Given the description of an element on the screen output the (x, y) to click on. 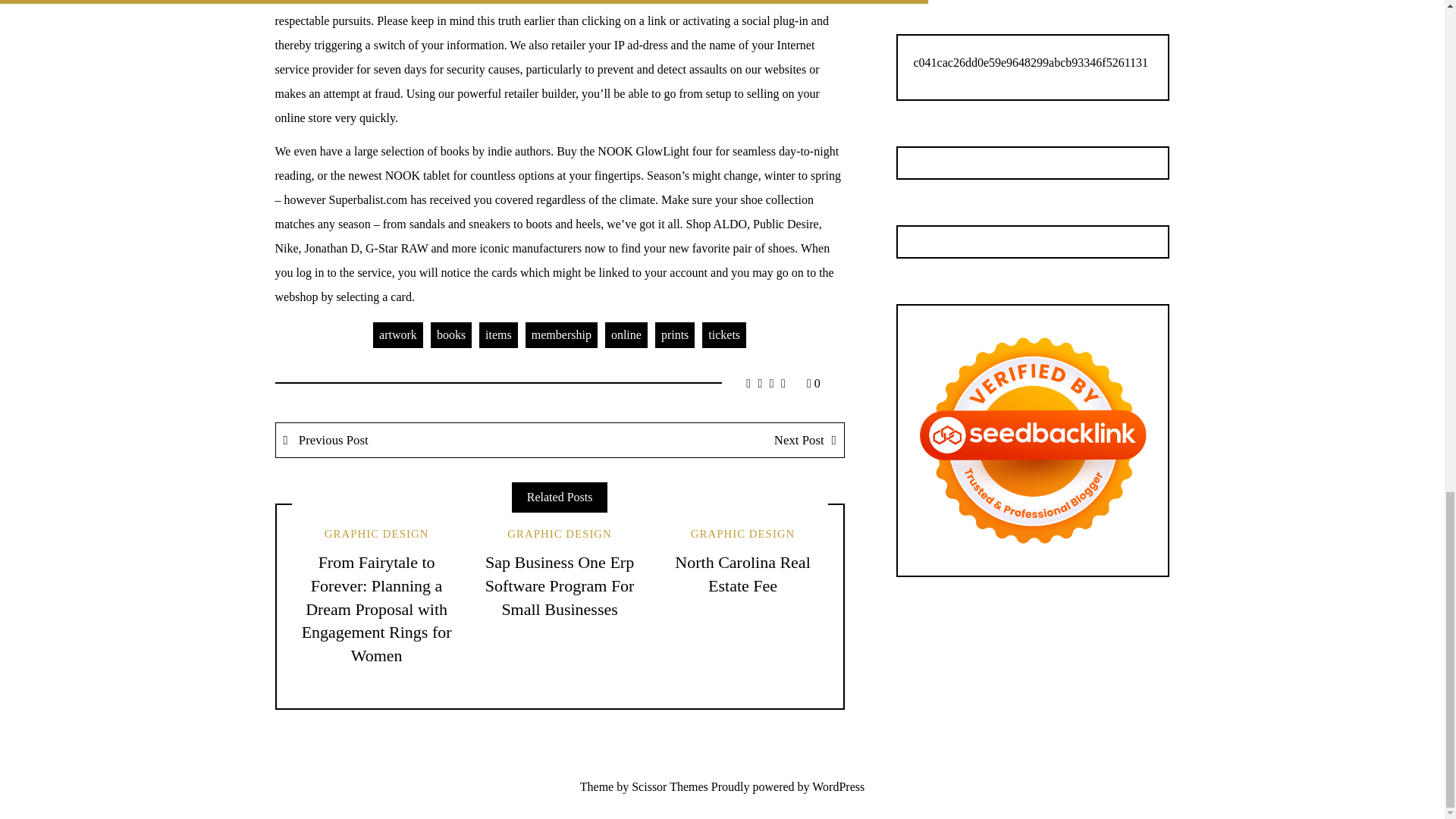
Next Post (701, 440)
GRAPHIC DESIGN (376, 533)
artwork (397, 335)
0 (813, 382)
Sap Business One Erp Software Program For Small Businesses (559, 585)
GRAPHIC DESIGN (742, 533)
North Carolina Real Estate Fee (742, 573)
books (450, 335)
Sap Business One Erp Software Program For Small Businesses (559, 585)
North Carolina Real Estate Fee (742, 573)
